Given the description of an element on the screen output the (x, y) to click on. 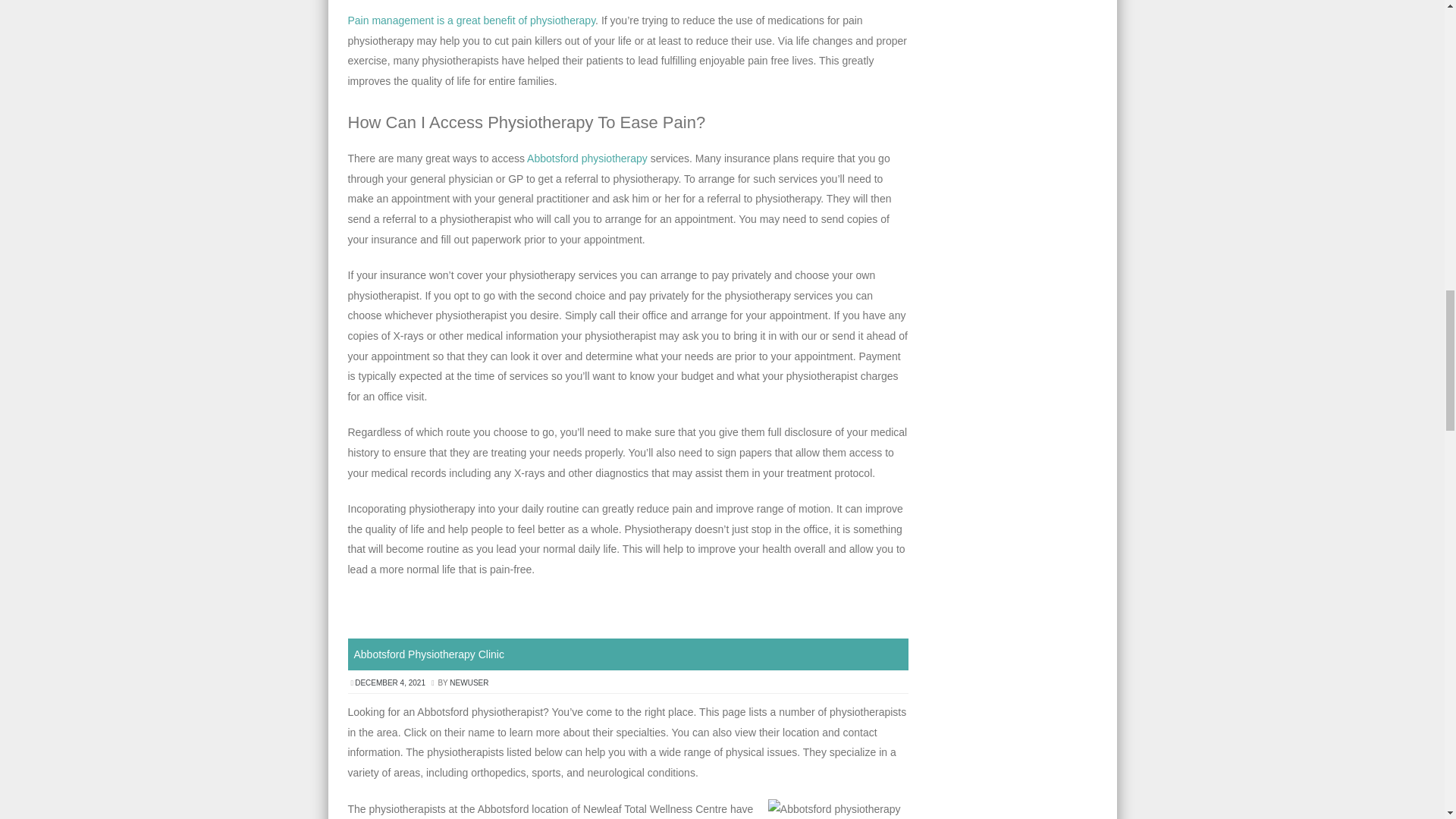
Permalink to Abbotsford Physiotherapy Clinic (428, 654)
View all posts by newuser (468, 682)
8:02 pm (390, 682)
Abbotsford Physiotherapy Clinic (428, 654)
Pain management is a great benefit of physiotherapy (471, 20)
Abbotsford physiotherapy (587, 158)
NEWUSER (468, 682)
DECEMBER 4, 2021 (390, 682)
